Given the description of an element on the screen output the (x, y) to click on. 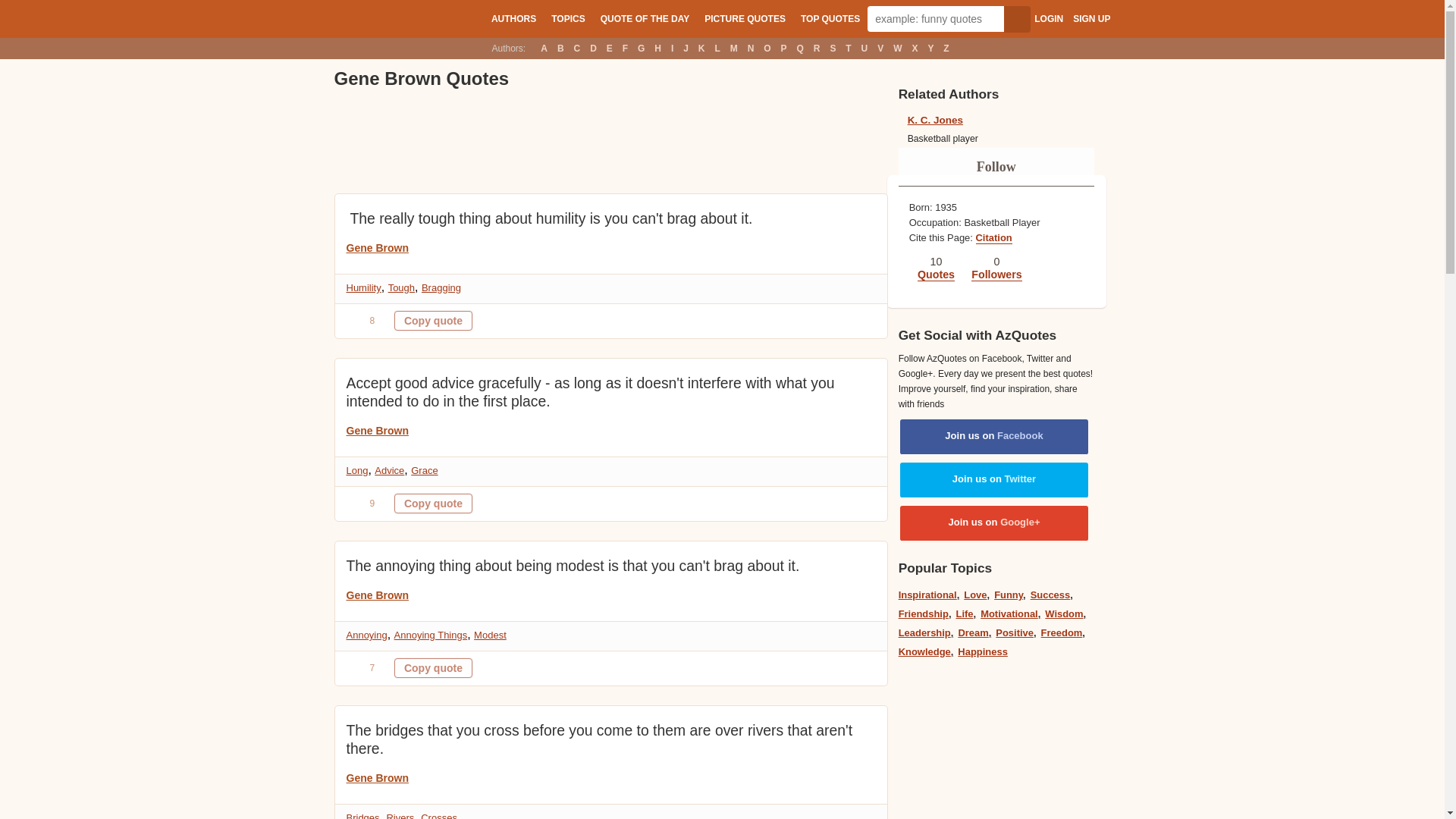
SIGN UP (1091, 18)
LOGIN (1047, 18)
QUOTE OF THE DAY (644, 18)
Quote is copied (432, 320)
AUTHORS (513, 18)
PICTURE QUOTES (745, 18)
TOPICS (567, 18)
TOP QUOTES (830, 18)
Quote is copied (432, 668)
Quote is copied (432, 503)
